Given the description of an element on the screen output the (x, y) to click on. 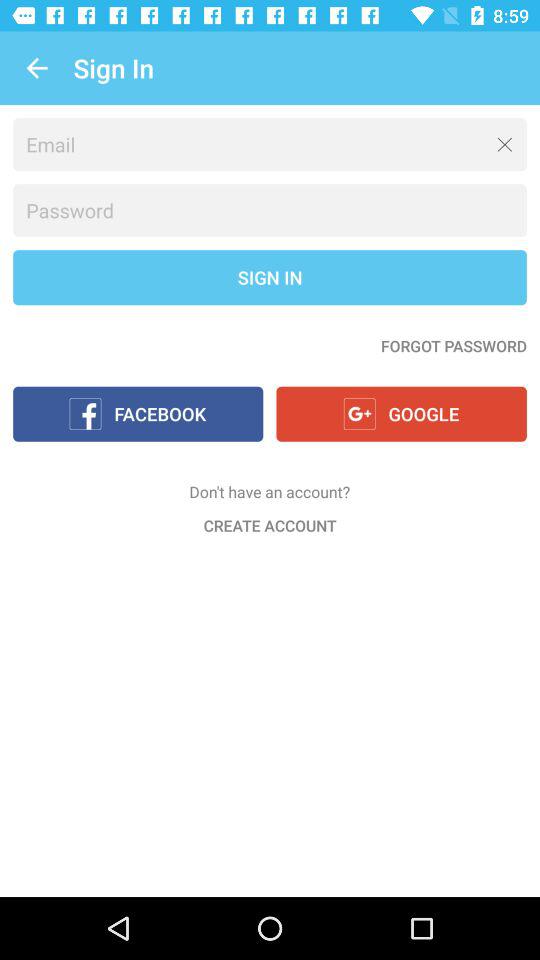
select the item below sign in (453, 345)
